Given the description of an element on the screen output the (x, y) to click on. 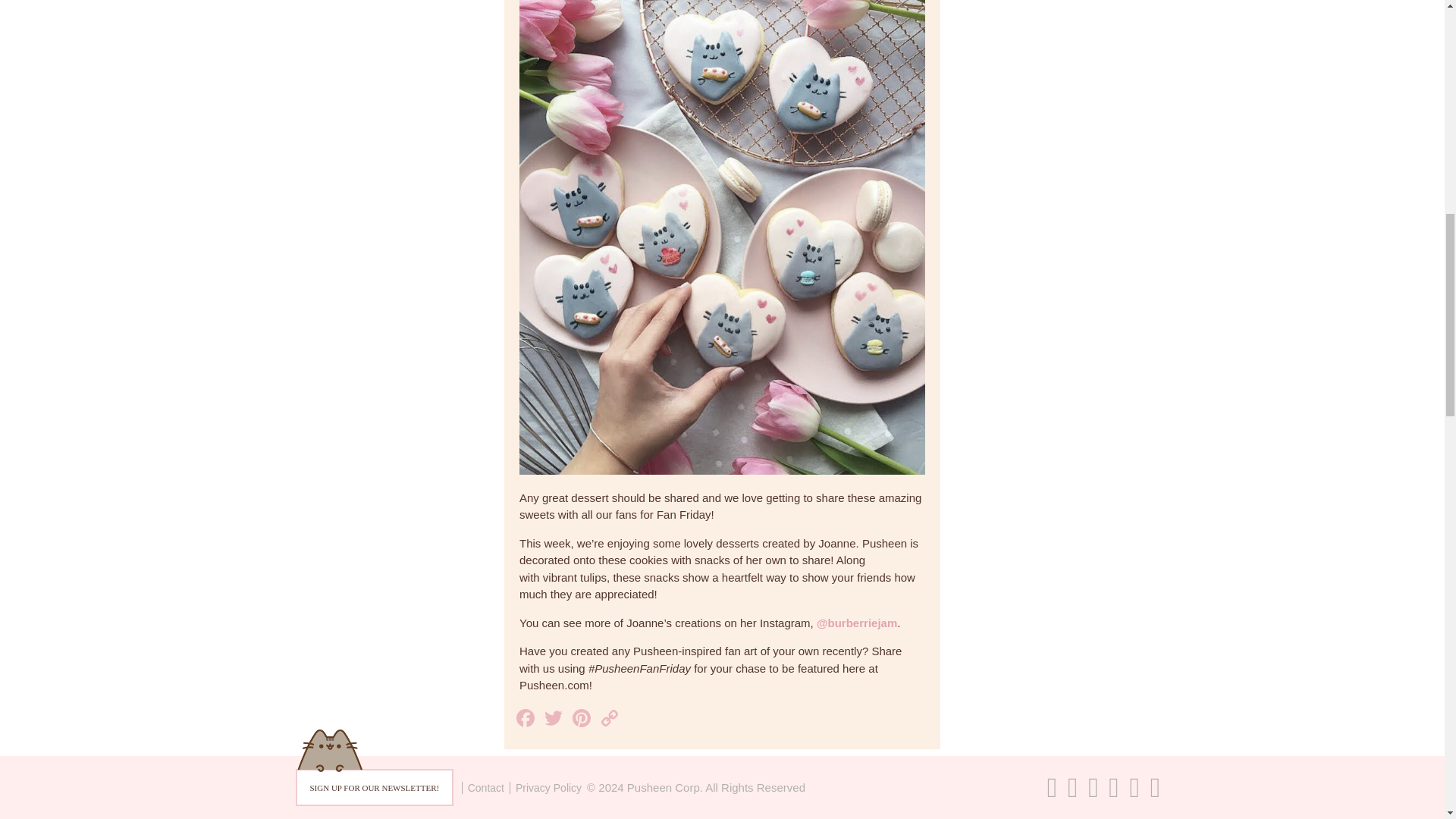
Pinterest (582, 719)
Twitter (555, 719)
Copy Link (611, 719)
Facebook (527, 719)
